Given the description of an element on the screen output the (x, y) to click on. 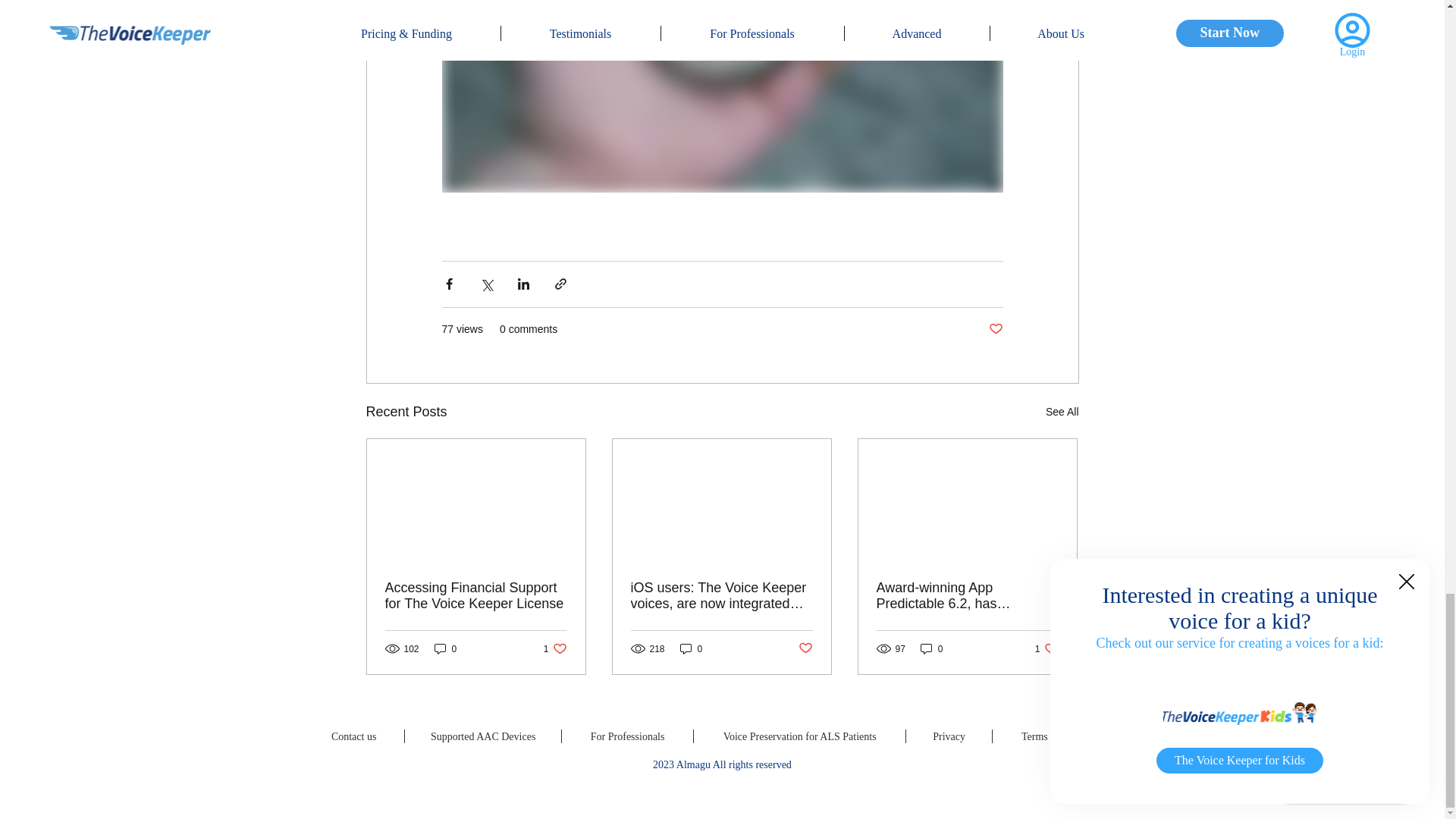
Accessing Financial Support for The Voice Keeper License (476, 595)
0 (445, 648)
Post not marked as liked (995, 329)
Post not marked as liked (804, 648)
0 (555, 648)
See All (691, 648)
